Given the description of an element on the screen output the (x, y) to click on. 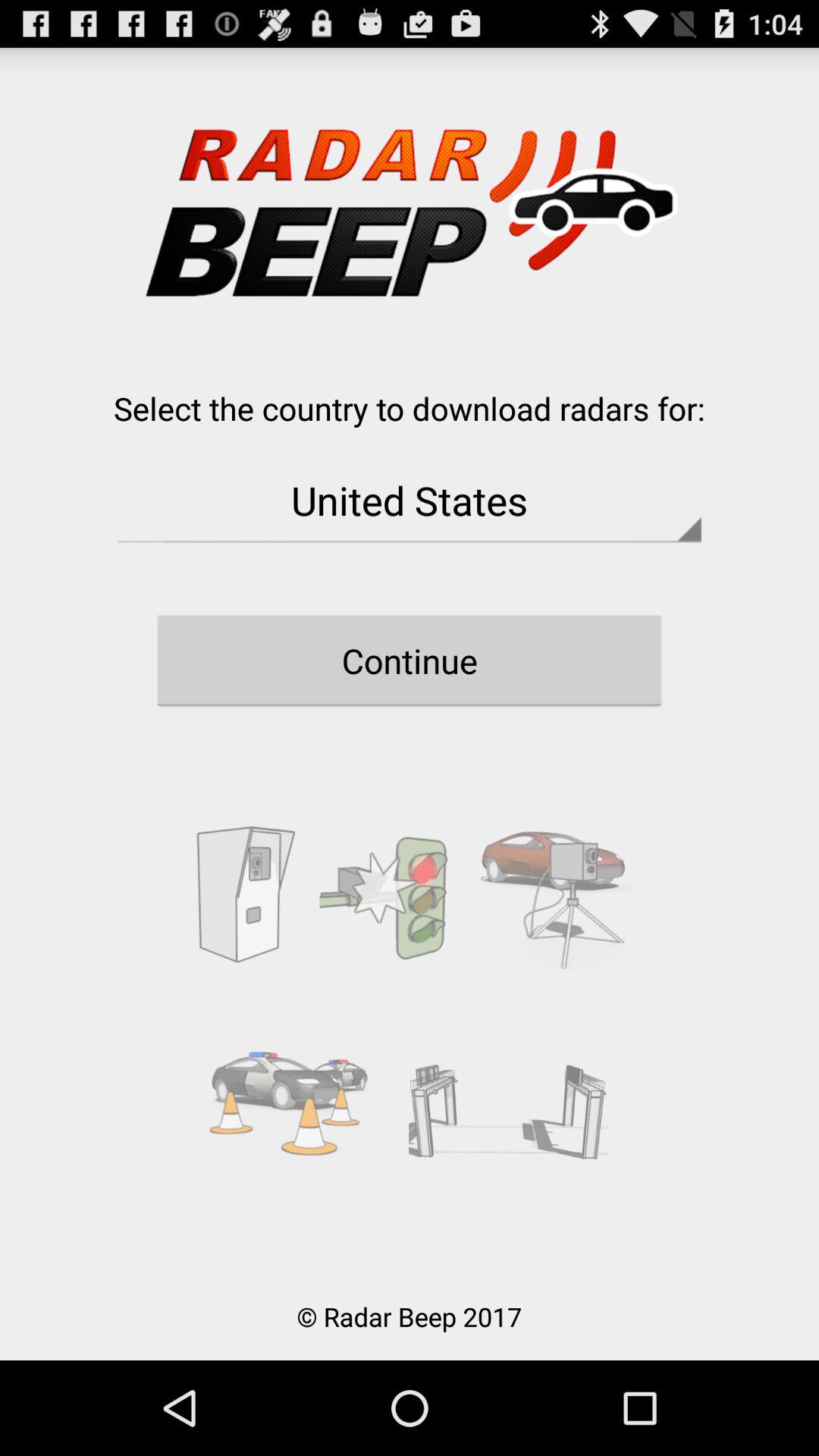
click icon below united states button (409, 660)
